Given the description of an element on the screen output the (x, y) to click on. 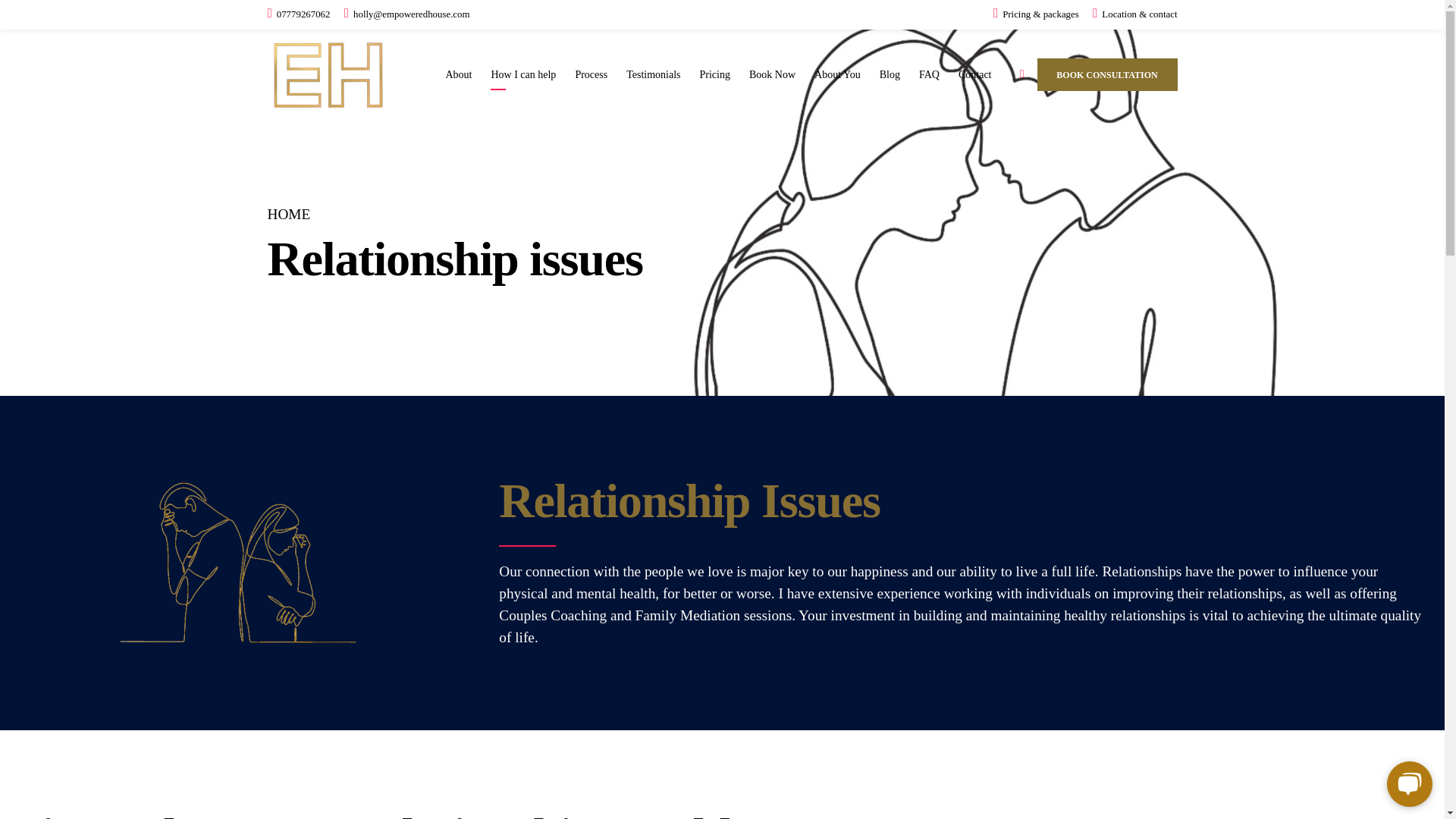
Book Now (771, 74)
Contact (974, 74)
Pricing (715, 74)
BOOK CONSULTATION (1106, 74)
About You (836, 74)
HOME (288, 213)
Process (591, 74)
How I can help (523, 74)
About (458, 74)
FAQ (928, 74)
BOOK CONSULTATION (1106, 74)
Testimonials (652, 74)
07779267062 (298, 14)
Blog (889, 74)
